Given the description of an element on the screen output the (x, y) to click on. 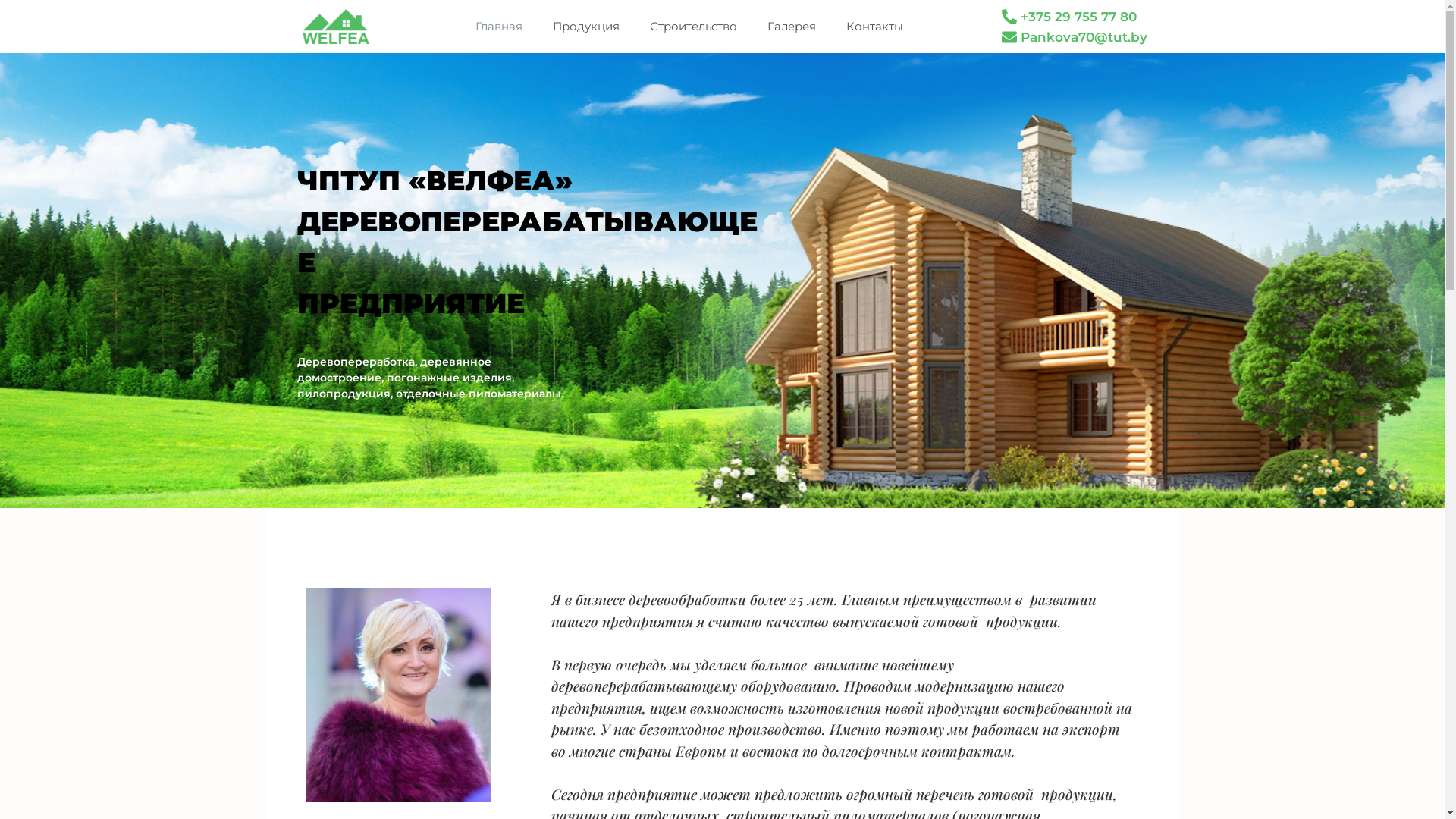
Pankova70@tut.by Element type: text (1076, 36)
+375 29 755 77 80 Element type: text (1070, 16)
